Given the description of an element on the screen output the (x, y) to click on. 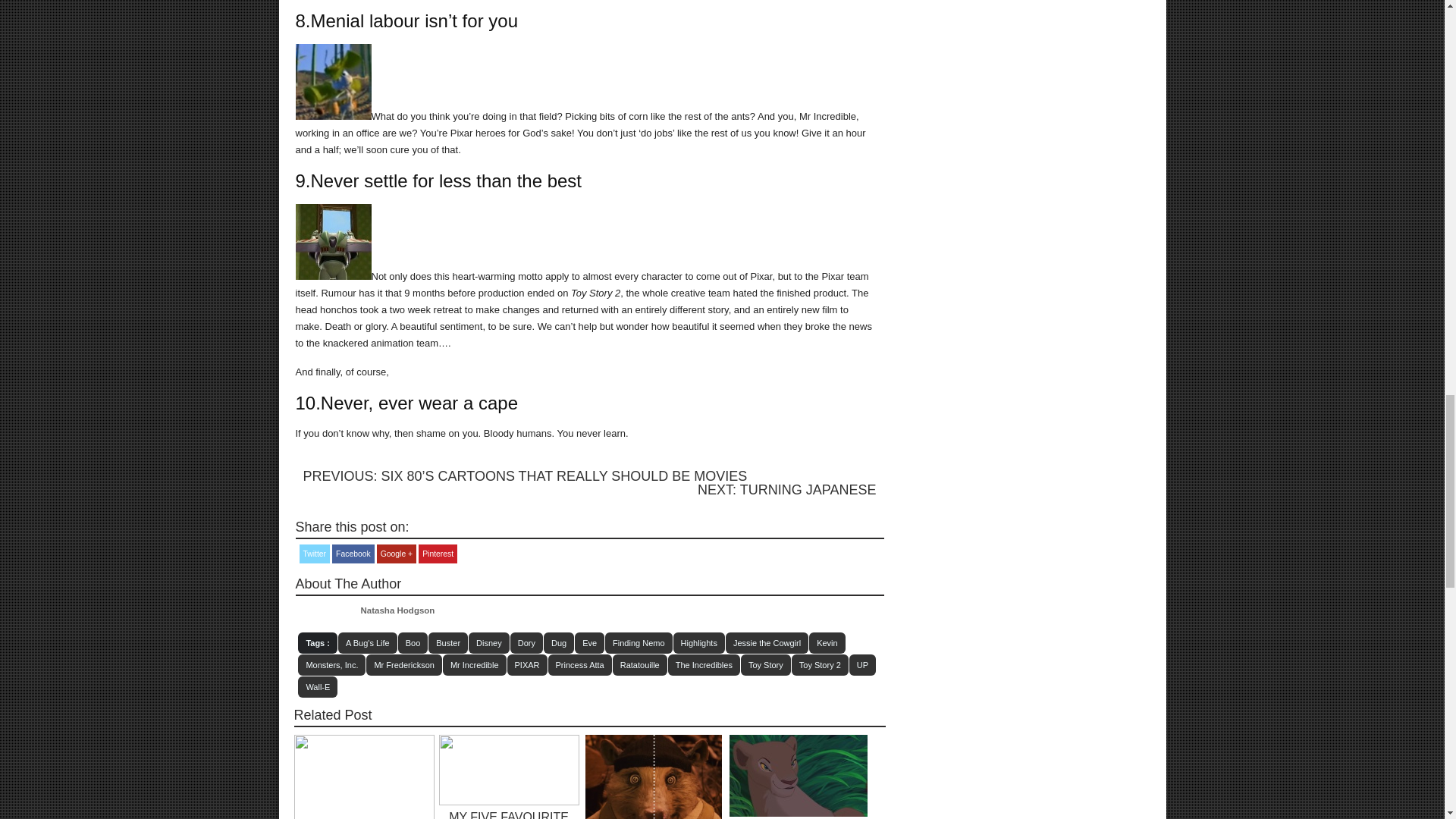
Pinterest (438, 553)
Natasha Hodgson (398, 610)
Tweet this! (314, 553)
Share on Facebook! (352, 553)
Boo (412, 642)
Dug (558, 642)
Posts by Natasha Hodgson (398, 610)
Top 10 sexy Disney animals (798, 813)
Share on Pinterest! (438, 553)
My five favourite films (508, 814)
